Given the description of an element on the screen output the (x, y) to click on. 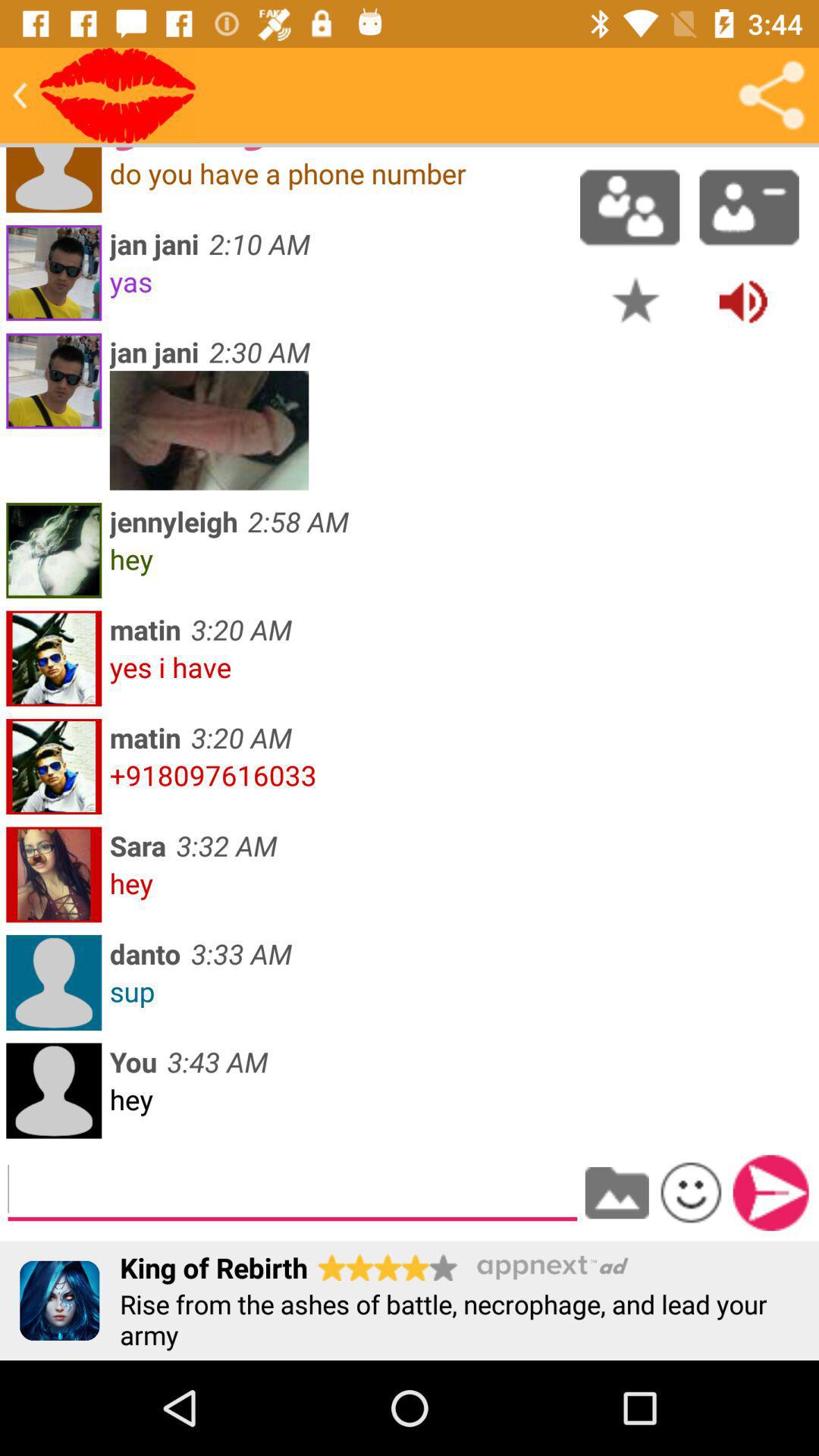
next page button (770, 1192)
